Given the description of an element on the screen output the (x, y) to click on. 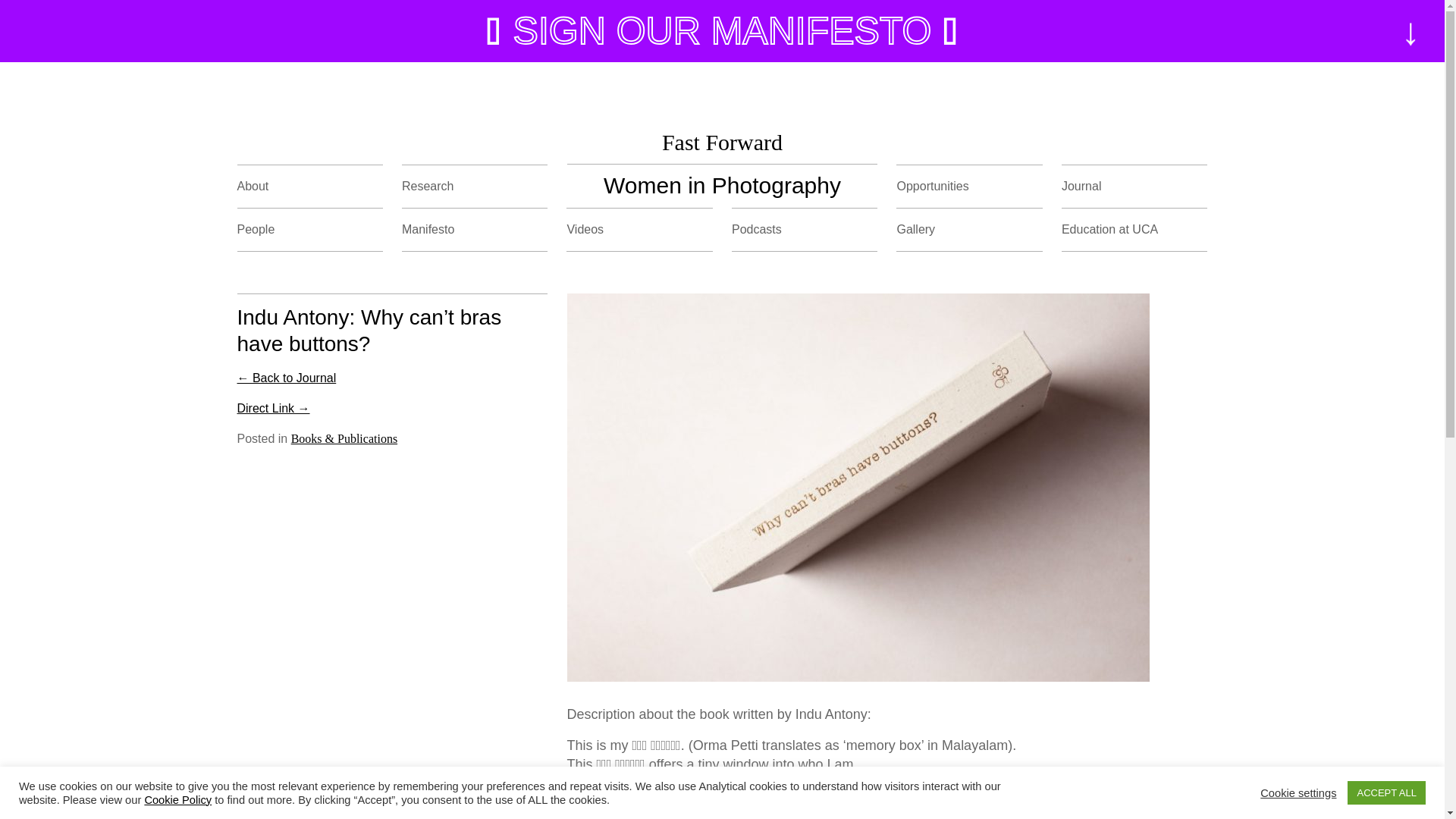
ACCEPT ALL (1386, 792)
Manifesto (427, 228)
Podcasts (756, 228)
Link to Website (271, 408)
Videos (585, 228)
Opportunities (932, 185)
Journal (1080, 185)
Cookie Policy (177, 799)
Gallery (915, 228)
Cookie settings (1298, 792)
